Given the description of an element on the screen output the (x, y) to click on. 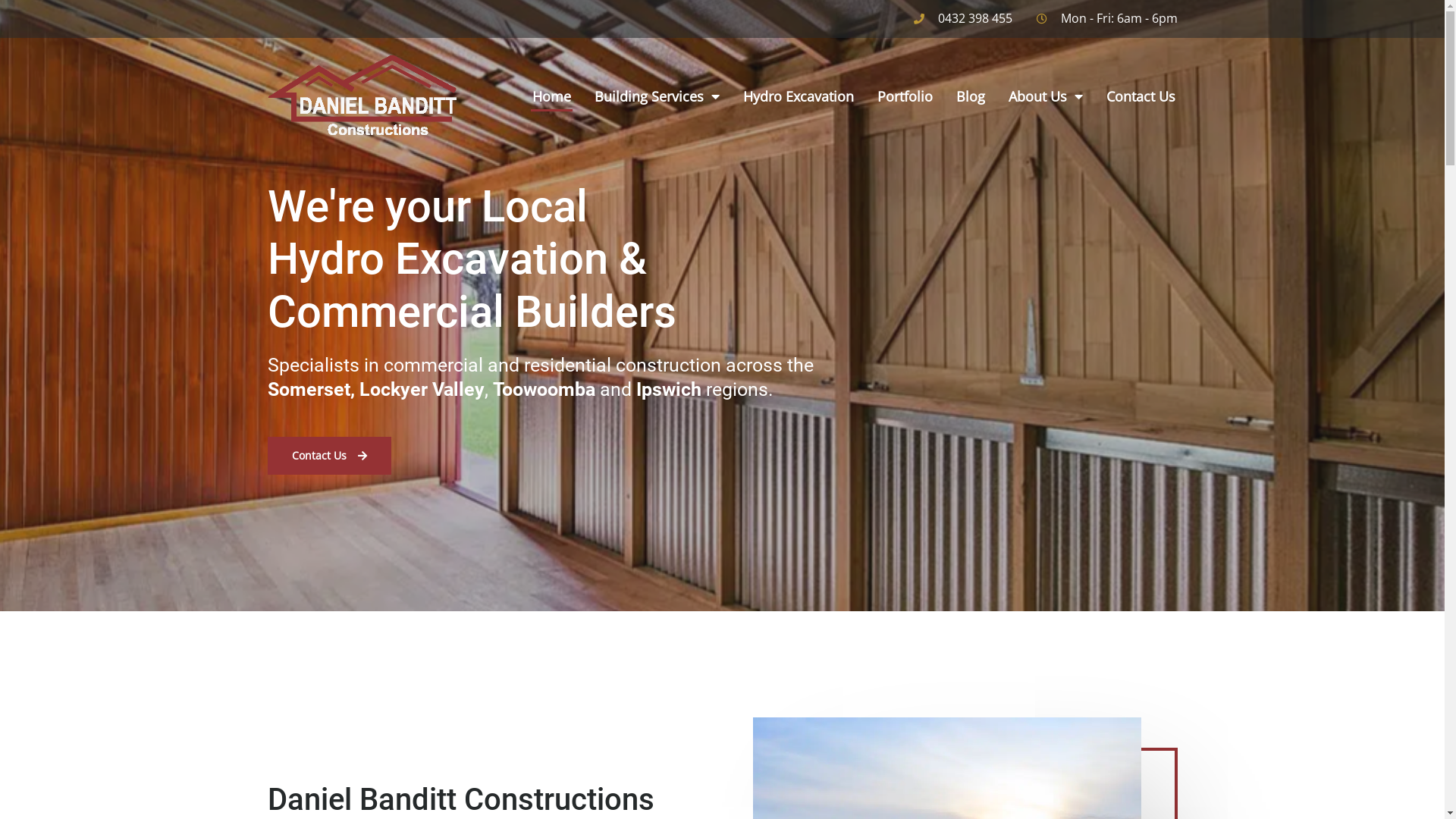
Contact Us Element type: text (1140, 96)
Hydro Excavation Element type: text (798, 96)
Portfolio Element type: text (904, 96)
Blog Element type: text (970, 96)
Contact Us Element type: text (328, 455)
0432 398 455 Element type: text (962, 18)
Building Services Element type: text (657, 96)
Home Element type: text (551, 96)
About Us Element type: text (1045, 96)
